Given the description of an element on the screen output the (x, y) to click on. 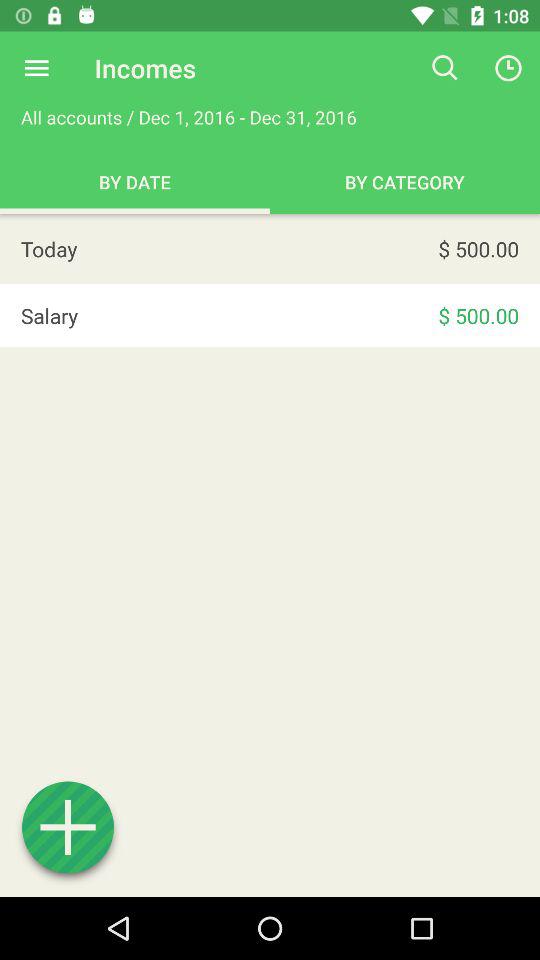
choose app next to the all accounts dec icon (444, 67)
